Given the description of an element on the screen output the (x, y) to click on. 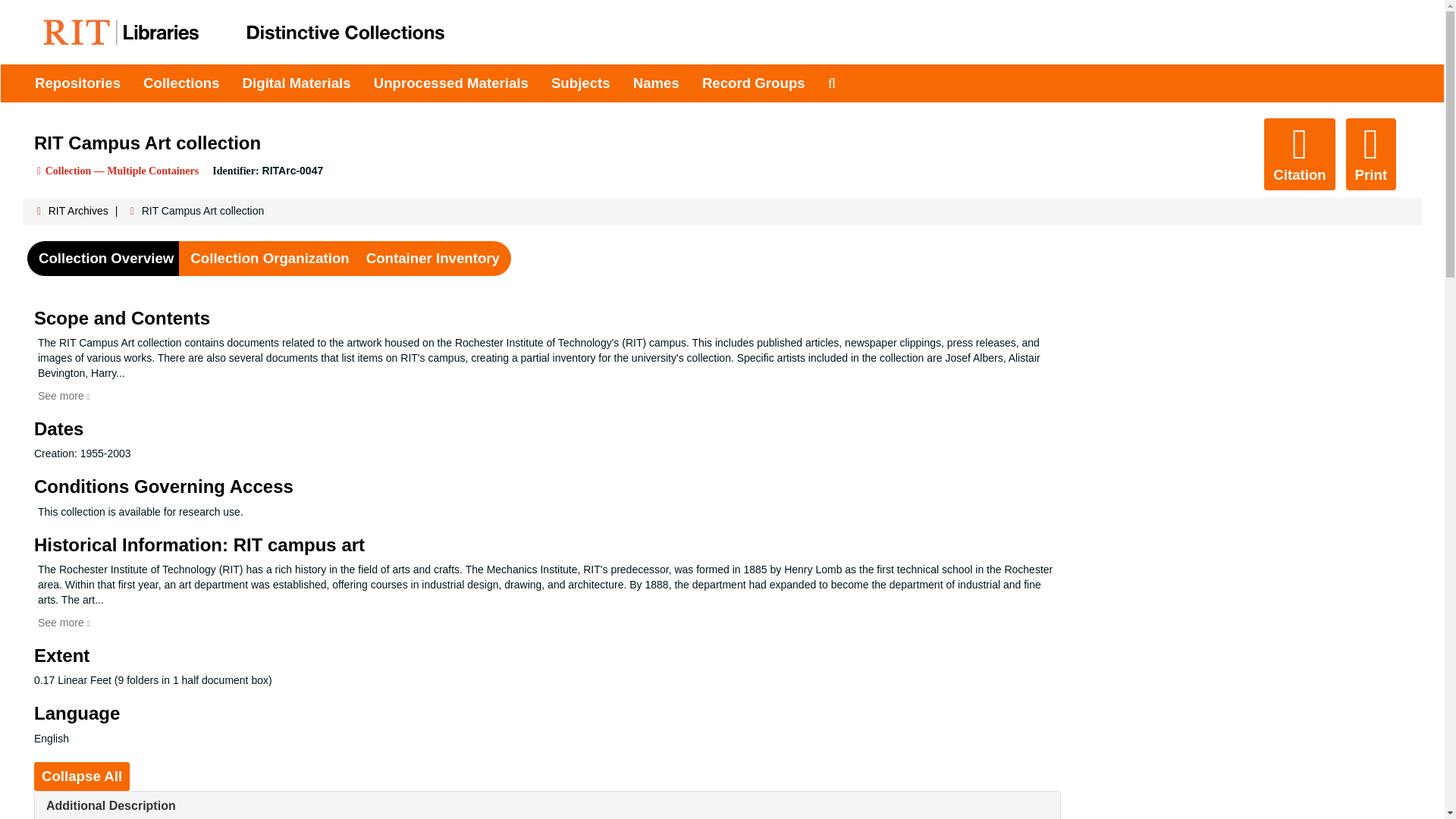
Record Groups (753, 83)
Citation (1299, 153)
Collection Organization (269, 258)
Digital Materials (296, 83)
Page Actions (1130, 153)
See more (63, 395)
See more (63, 622)
Repositories (77, 83)
RIT Archives (77, 210)
Collapse All (81, 776)
Subjects (580, 83)
Container Inventory (433, 258)
Collection Overview (105, 258)
Collections (181, 83)
Additional Description (111, 805)
